Given the description of an element on the screen output the (x, y) to click on. 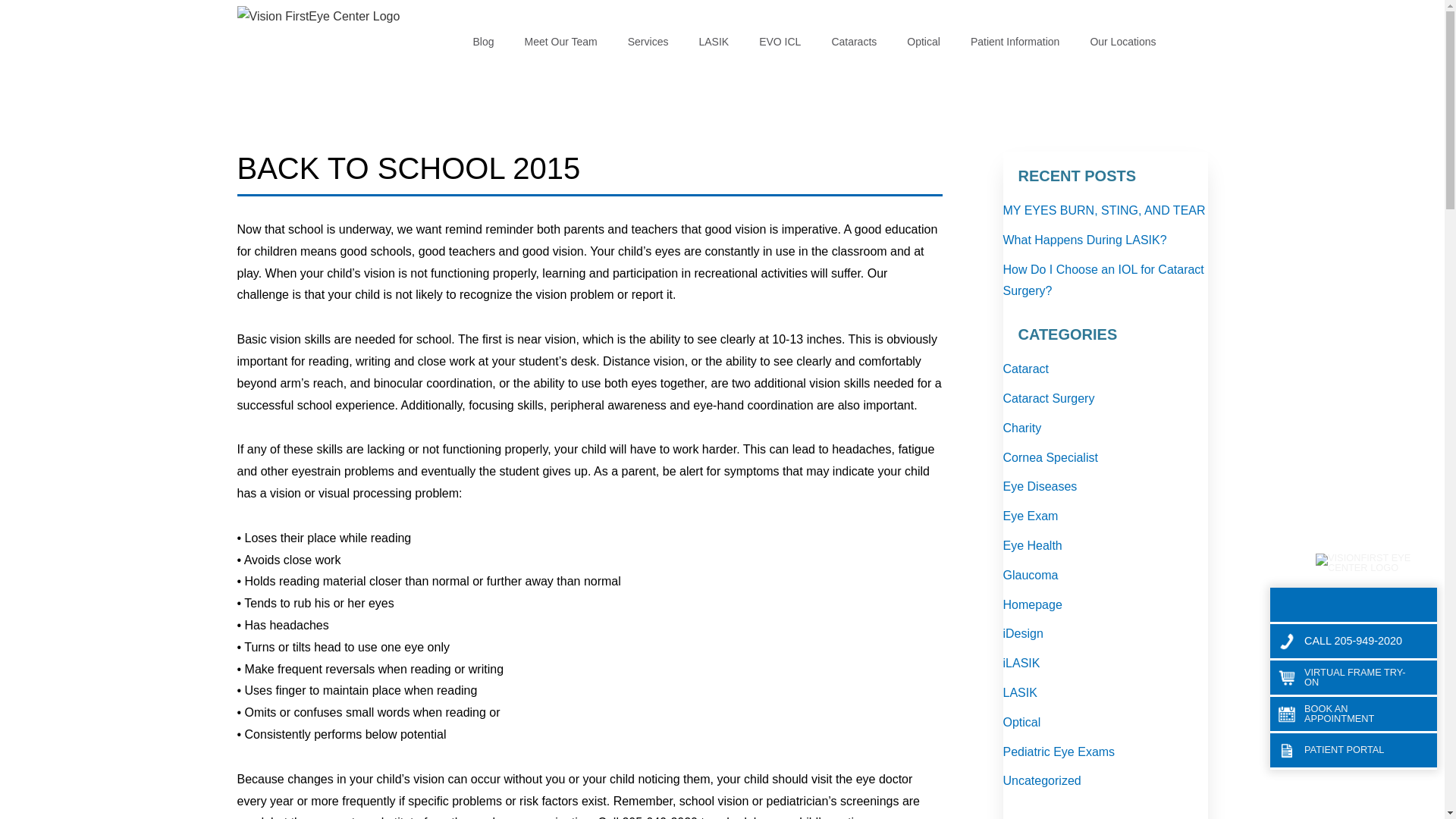
LASIK (713, 41)
Cataracts (853, 41)
Meet Our Team (560, 41)
Patient Information (1015, 41)
VisionFirst Eye Center - Click Here for the Homepage (327, 33)
Meet Our Team (560, 41)
Services (648, 41)
Blog (482, 41)
Services (648, 41)
Blog (482, 41)
Optical (923, 41)
EVO ICL (779, 41)
Our Locations (1122, 41)
